Given the description of an element on the screen output the (x, y) to click on. 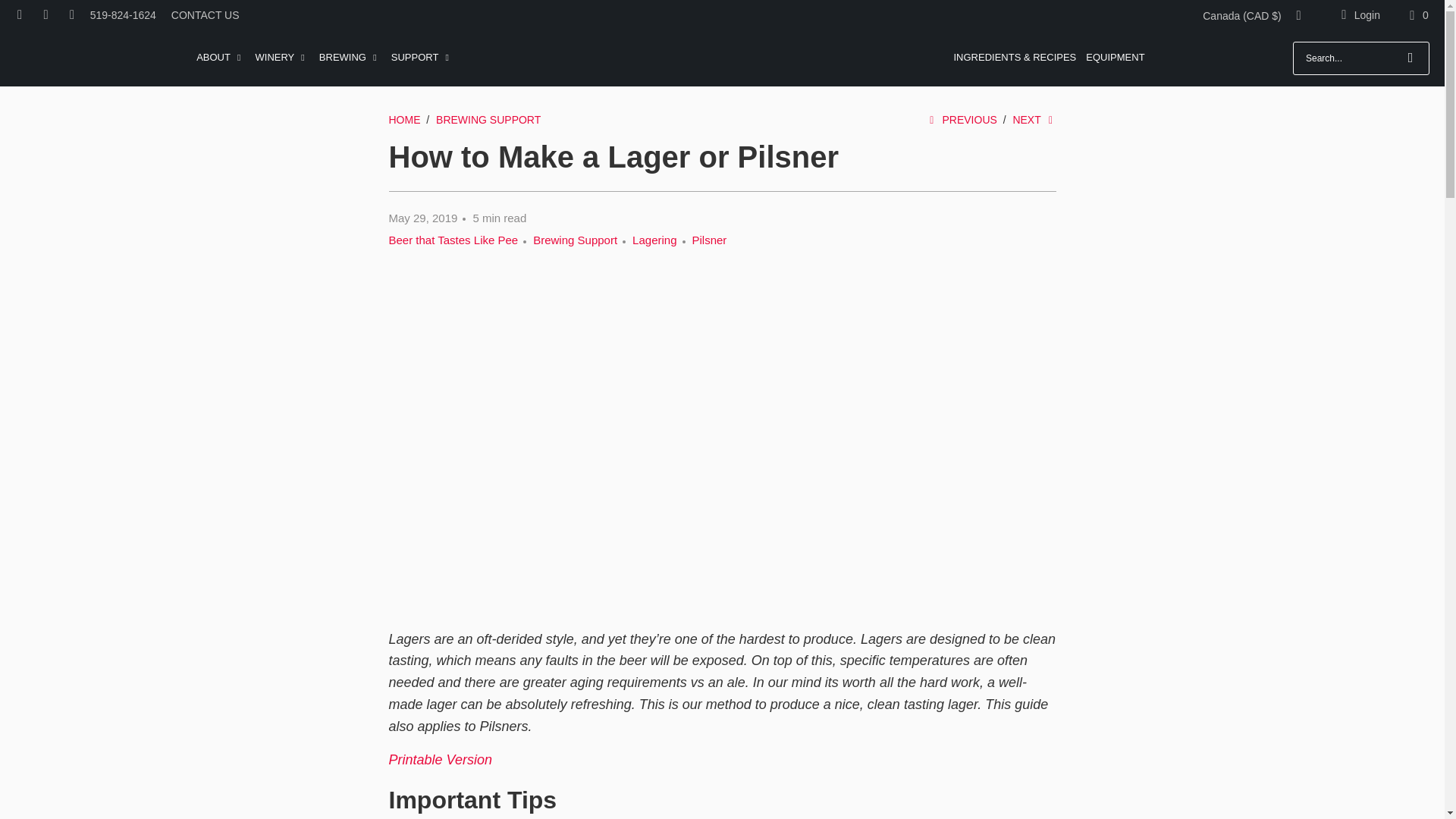
Brewing Support tagged Brewing Support (574, 239)
Brewing Support tagged Beer that Tastes Like Pee (453, 239)
My Account  (1357, 15)
Brewing Support tagged Pilsner (709, 239)
Brewing Support tagged Lagering (654, 239)
Brewing Support (487, 119)
